Given the description of an element on the screen output the (x, y) to click on. 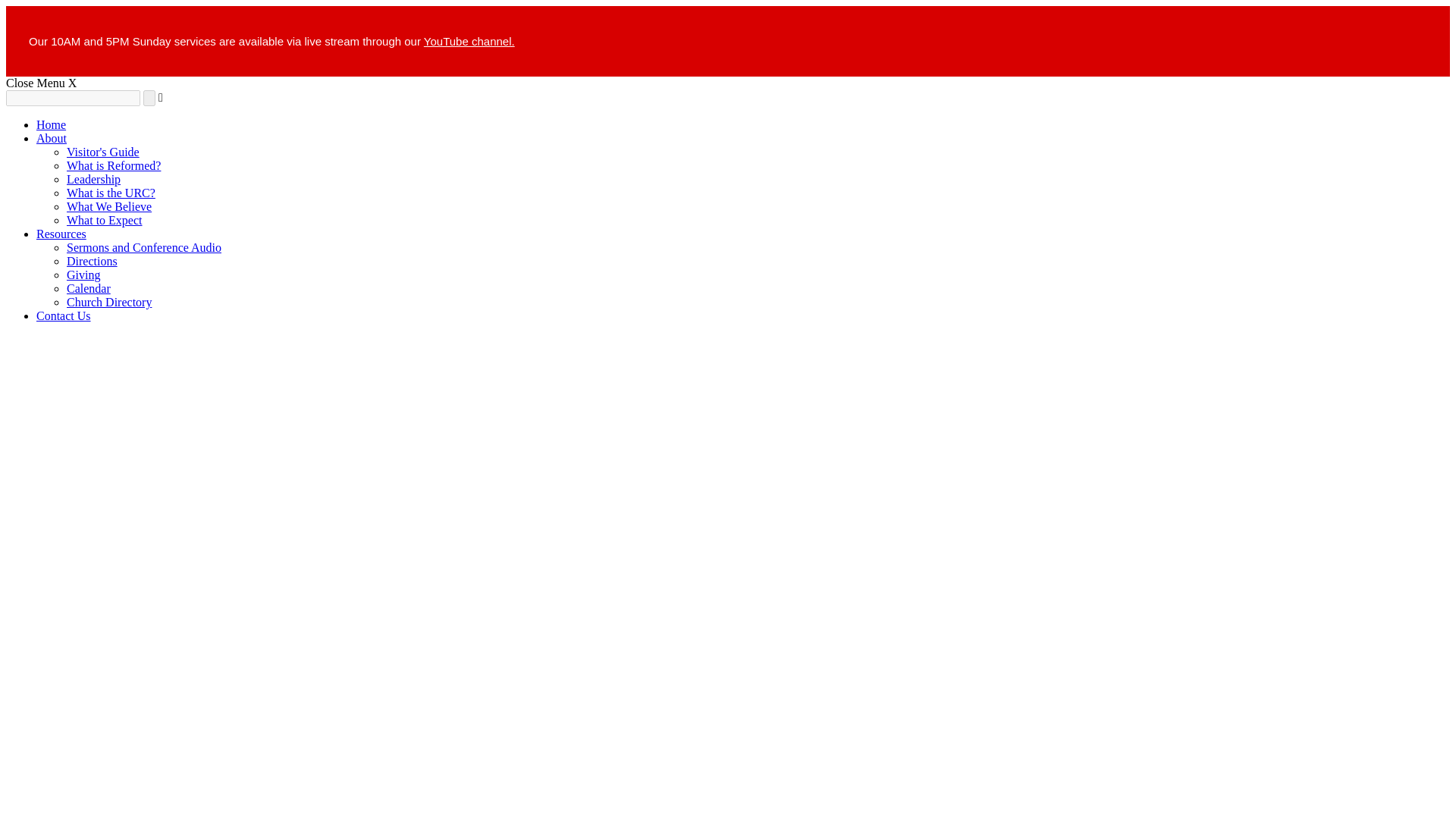
What to Expect (104, 219)
Calendar (88, 287)
Directions (91, 260)
YouTube channel. (469, 41)
About (51, 137)
What We Believe (108, 205)
Giving (83, 274)
Visitor's Guide (102, 151)
Sermons and Conference Audio (143, 246)
What is the URC? (110, 192)
Home (50, 124)
Resources (60, 233)
What is Reformed? (113, 164)
Church Directory (108, 301)
Leadership (93, 178)
